Given the description of an element on the screen output the (x, y) to click on. 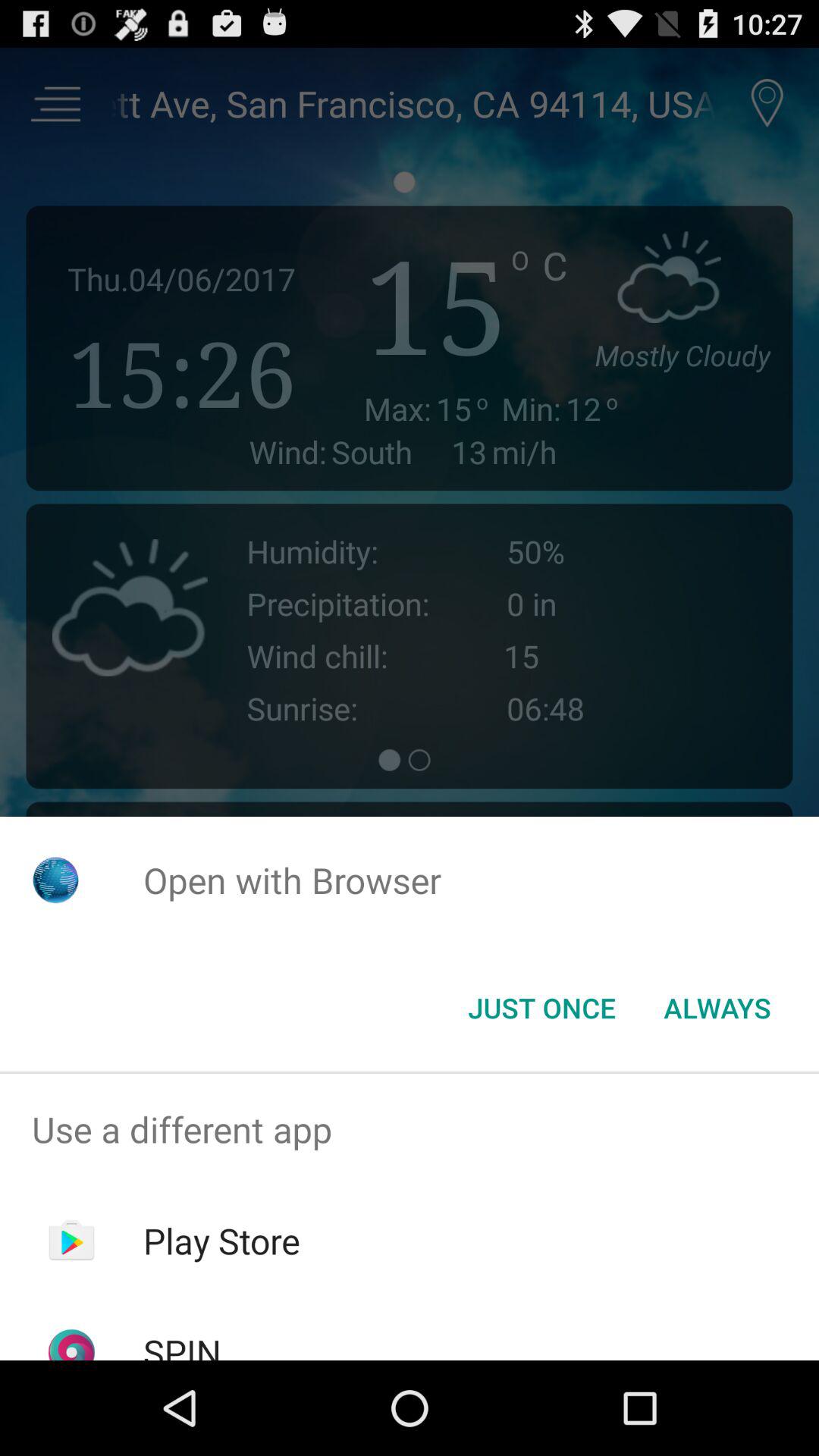
select the just once (541, 1007)
